Given the description of an element on the screen output the (x, y) to click on. 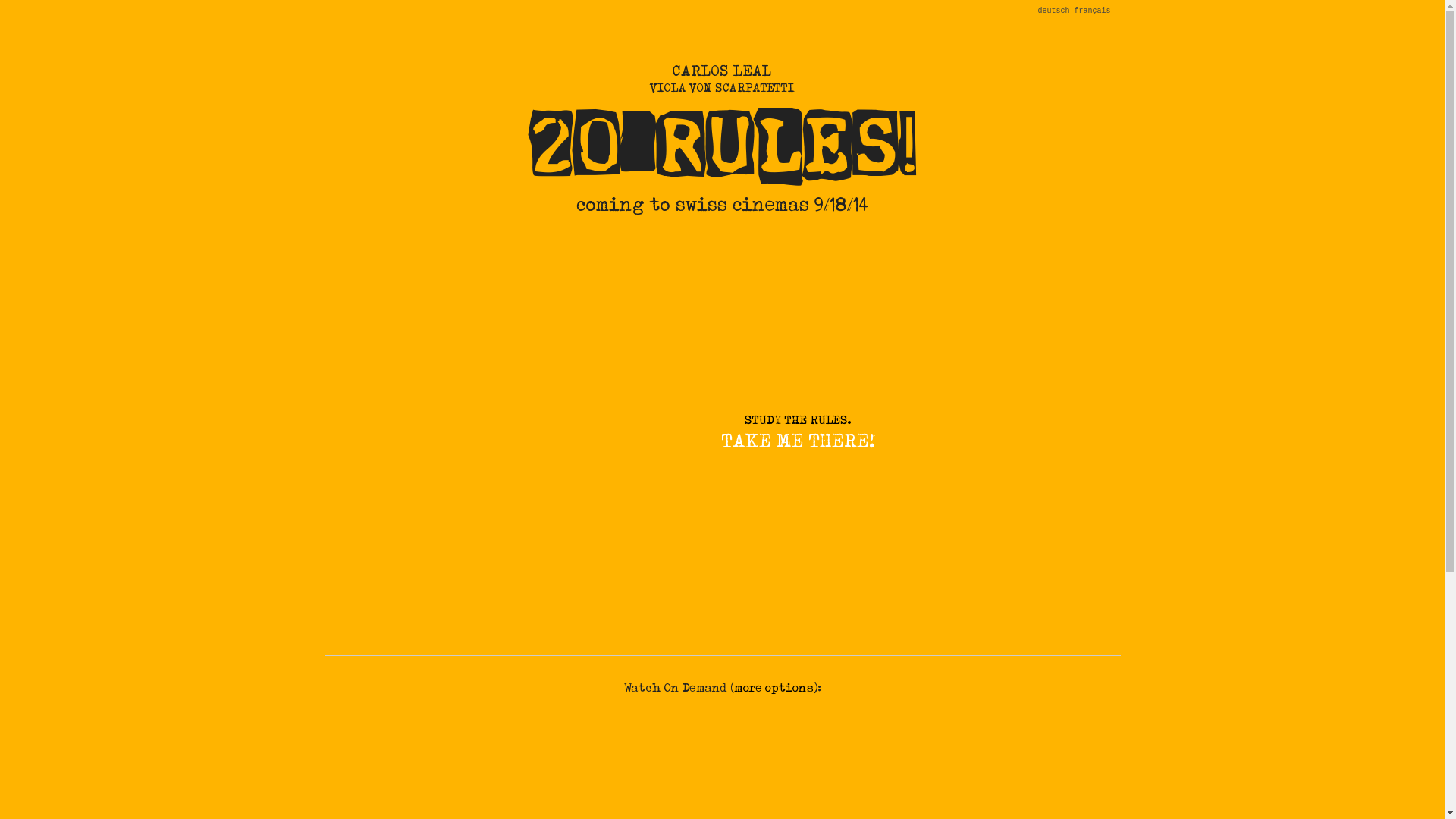
TAKE ME THERE! Element type: text (797, 440)
more options Element type: text (773, 686)
deutsch Element type: text (1053, 10)
STUDY THE RULES. Element type: text (797, 420)
